Given the description of an element on the screen output the (x, y) to click on. 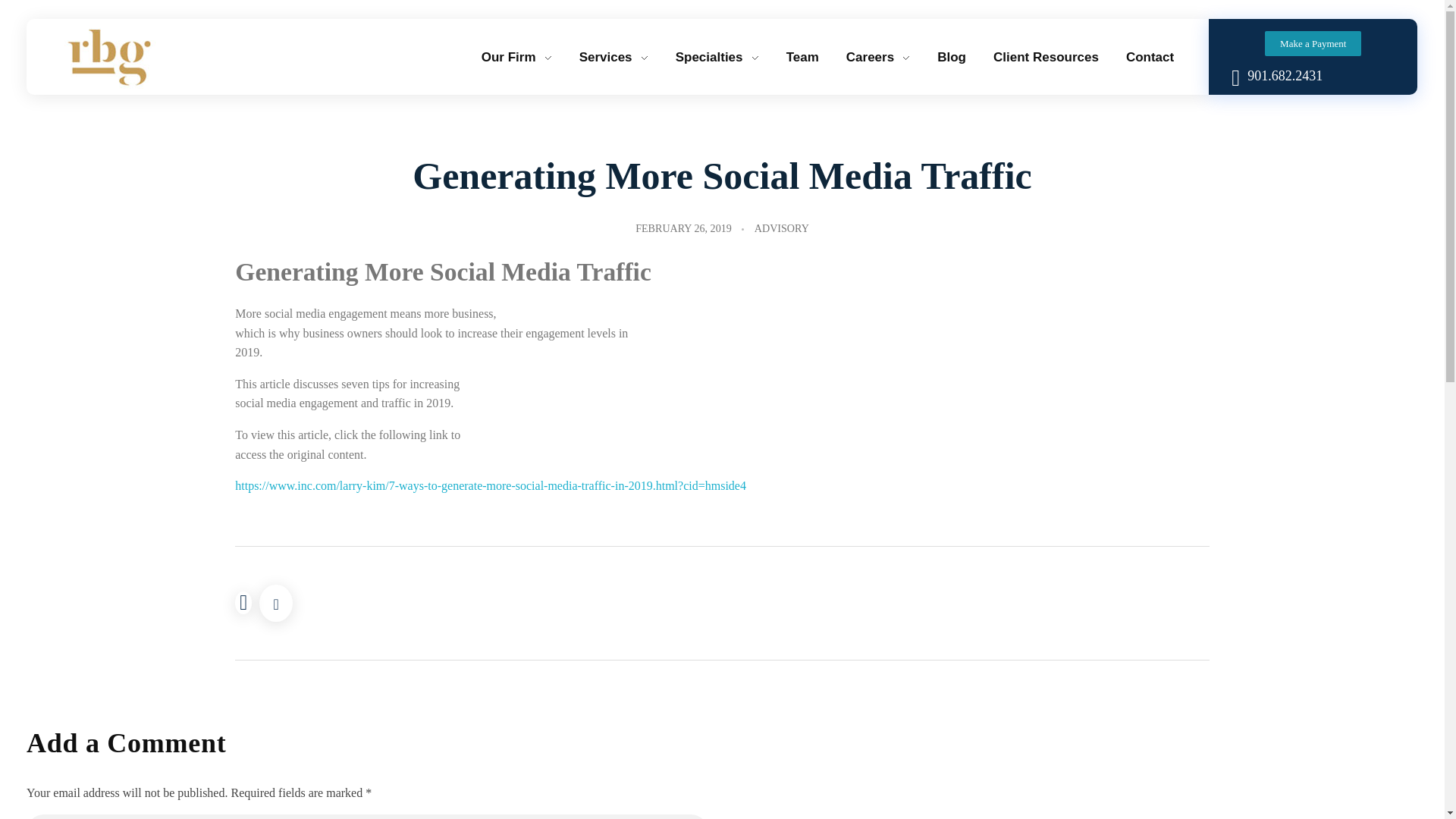
Contact (1148, 56)
View all posts in Advisory (781, 228)
Our Firm (515, 56)
Make a Payment (1313, 42)
ADVISORY (781, 228)
Services (611, 56)
901.682.2431 (1282, 75)
Team (800, 56)
Careers (876, 56)
Client Resources (1043, 56)
Specialties (715, 56)
Blog (950, 56)
